Given the description of an element on the screen output the (x, y) to click on. 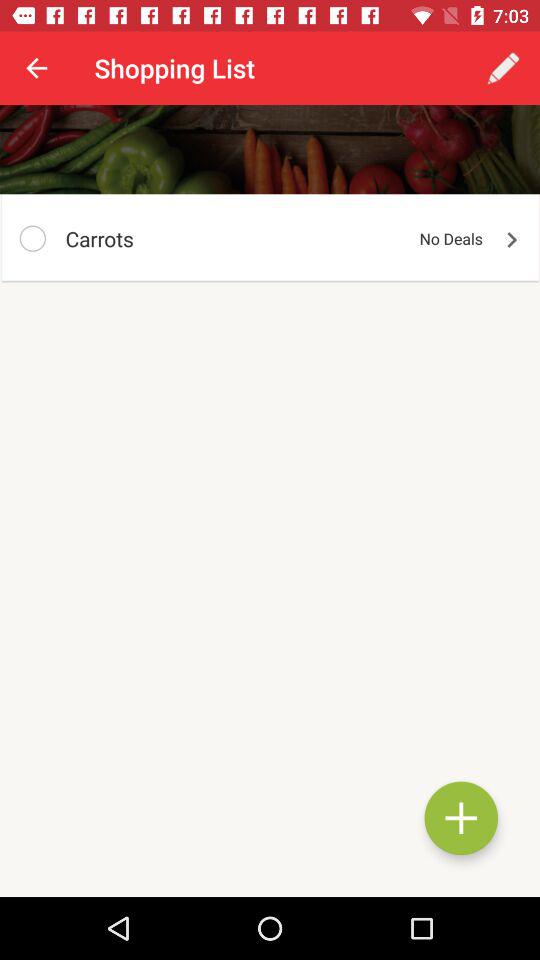
select carrots (32, 238)
